Given the description of an element on the screen output the (x, y) to click on. 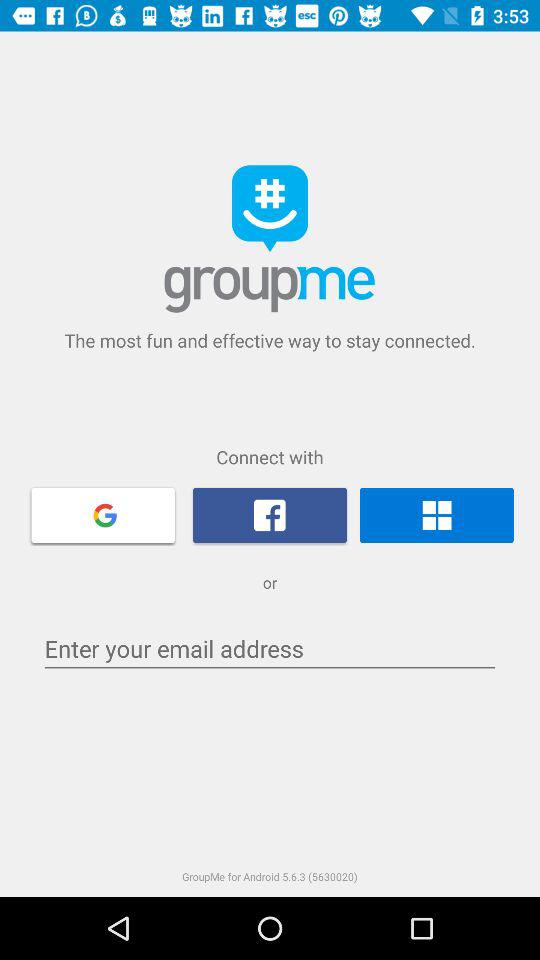
click the item above or (103, 513)
